Given the description of an element on the screen output the (x, y) to click on. 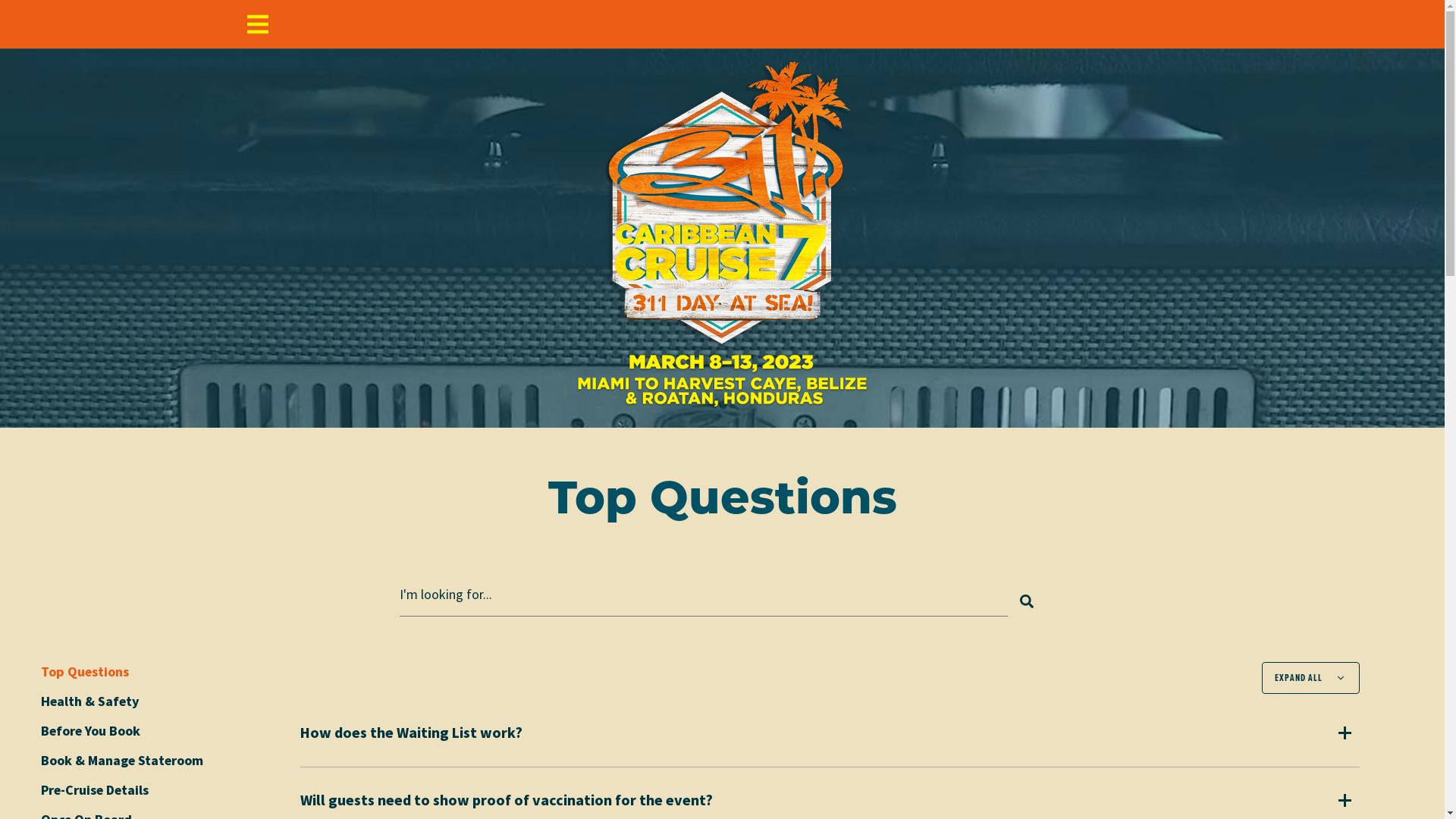
Health & Safety Element type: text (89, 701)
Book & Manage Stateroom Element type: text (121, 760)
Will guests need to show proof of vaccination for the event? Element type: text (506, 800)
Pre-Cruise Details Element type: text (94, 789)
Menu Element type: text (257, 24)
EXPAND ALL Element type: text (1310, 677)
How does the Waiting List work? Element type: text (411, 732)
Search Element type: text (1025, 599)
Top Questions Element type: text (84, 671)
Before You Book Element type: text (90, 730)
